Given the description of an element on the screen output the (x, y) to click on. 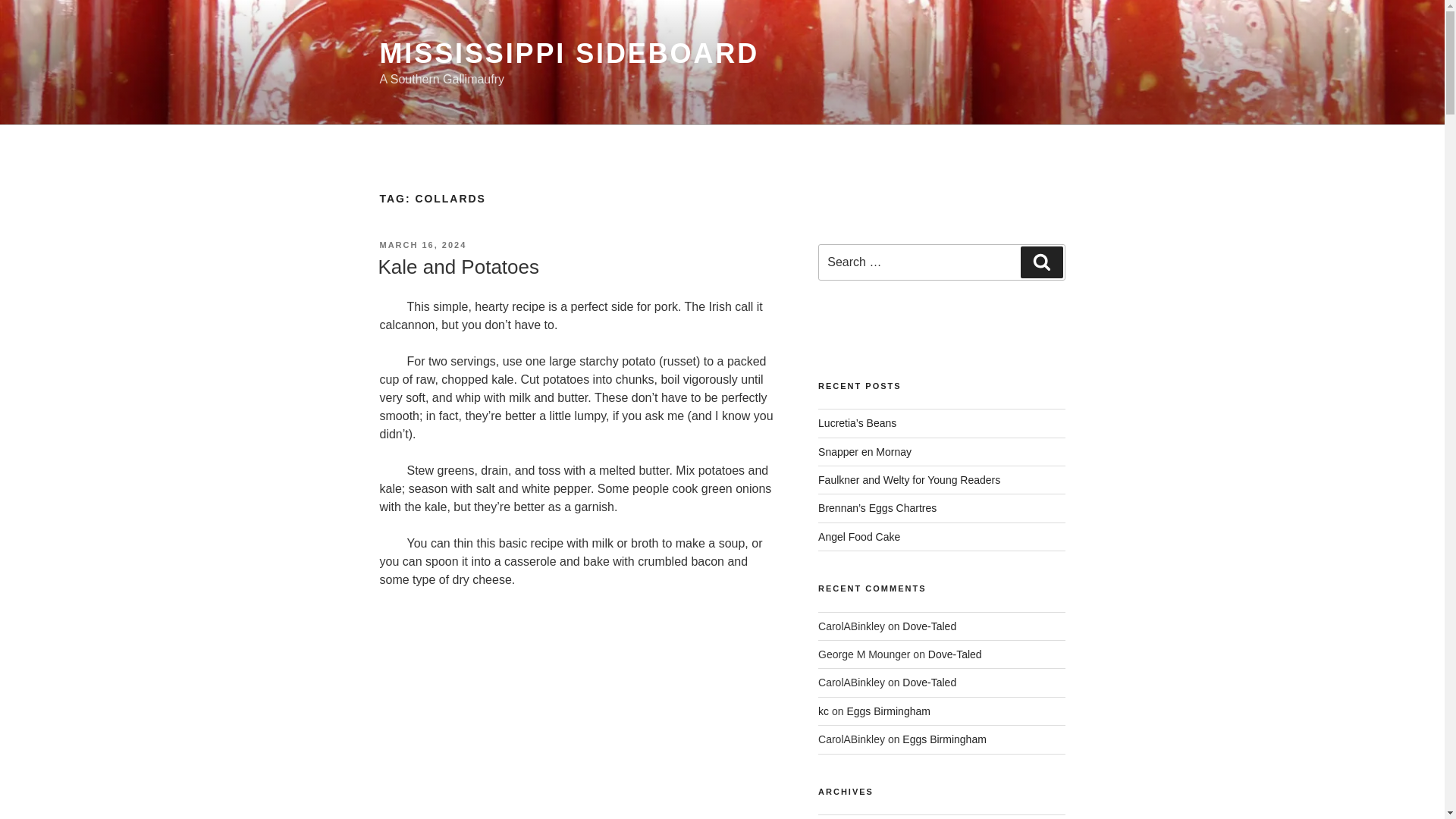
Follow Button (941, 319)
Dove-Taled (929, 682)
Dove-Taled (929, 625)
Angel Food Cake (858, 536)
MARCH 16, 2024 (421, 244)
Snapper en Mornay (864, 451)
Faulkner and Welty for Young Readers (909, 480)
Kale and Potatoes (457, 266)
MISSISSIPPI SIDEBOARD (568, 52)
Search (1041, 262)
